Given the description of an element on the screen output the (x, y) to click on. 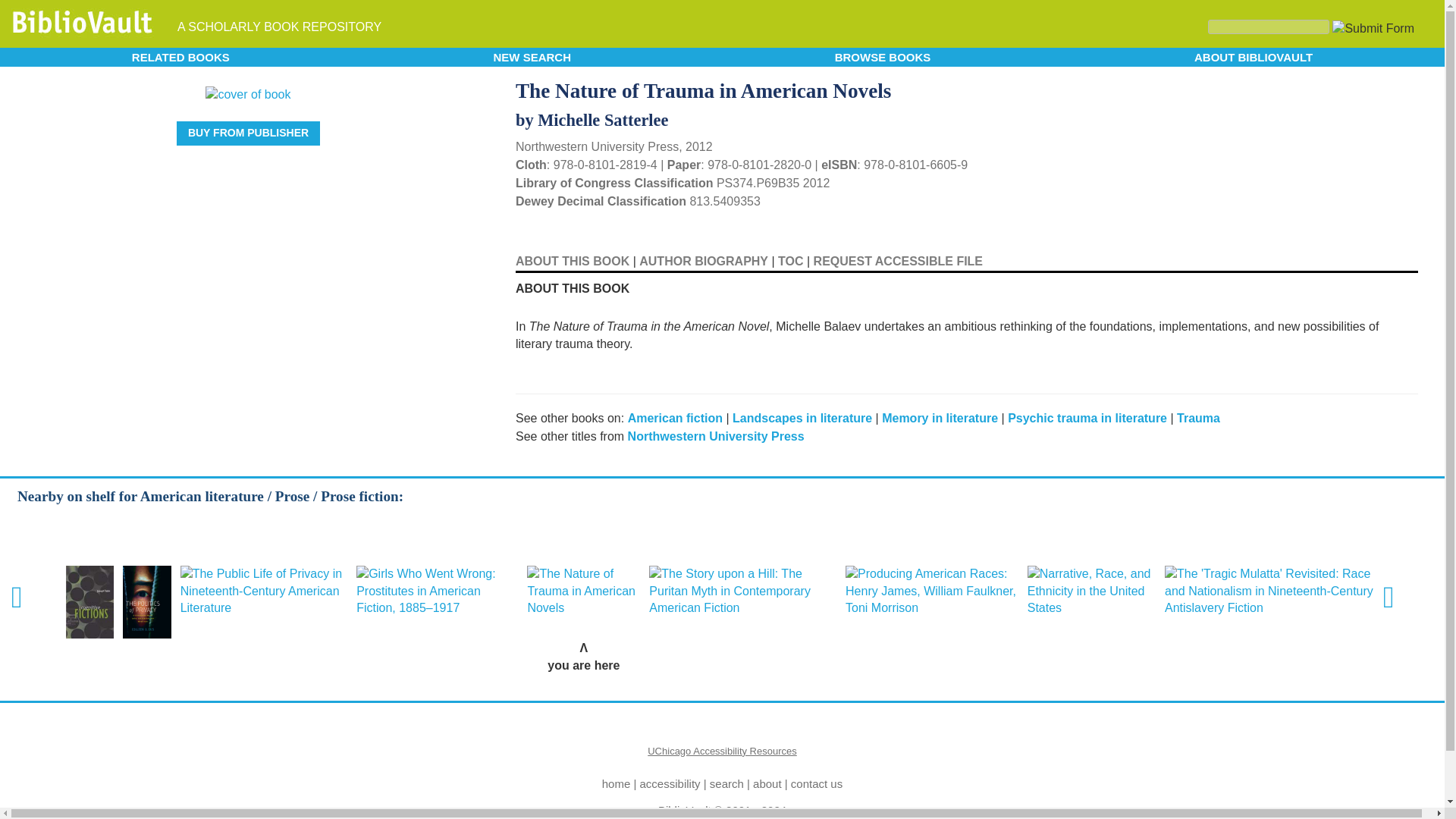
ABOUT BIBLIOVAULT (1253, 56)
BROWSE BOOKS (882, 56)
NEW SEARCH (532, 56)
Send as an email (1404, 87)
American fiction (674, 418)
Share on Facebook (1384, 90)
RELATED BOOKS (180, 56)
Landscapes in literature (802, 418)
BUY FROM PUBLISHER (248, 133)
